Given the description of an element on the screen output the (x, y) to click on. 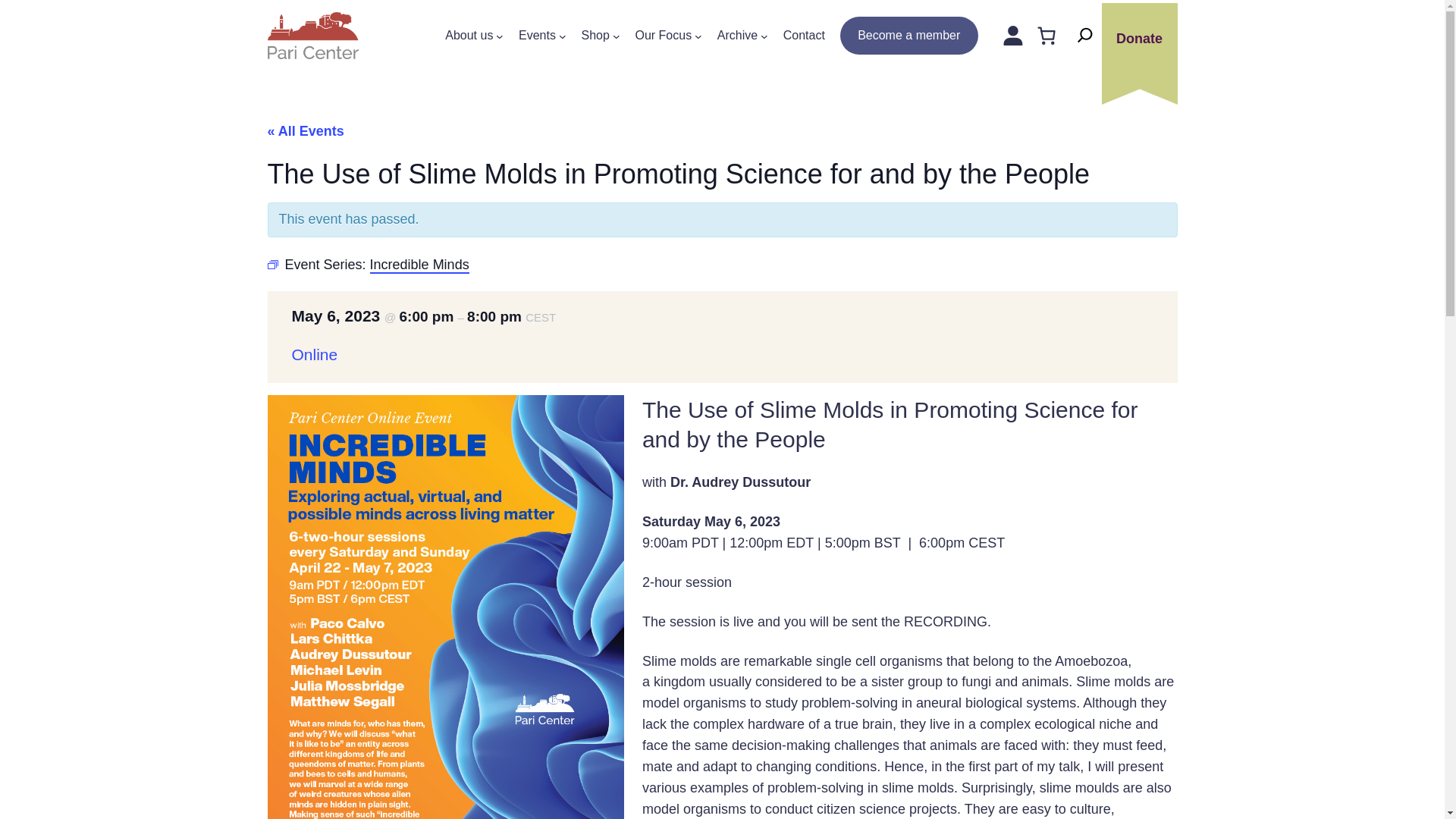
Shop (594, 35)
Our Focus (662, 35)
Event Series (272, 264)
Events (537, 35)
About us (469, 35)
